Given the description of an element on the screen output the (x, y) to click on. 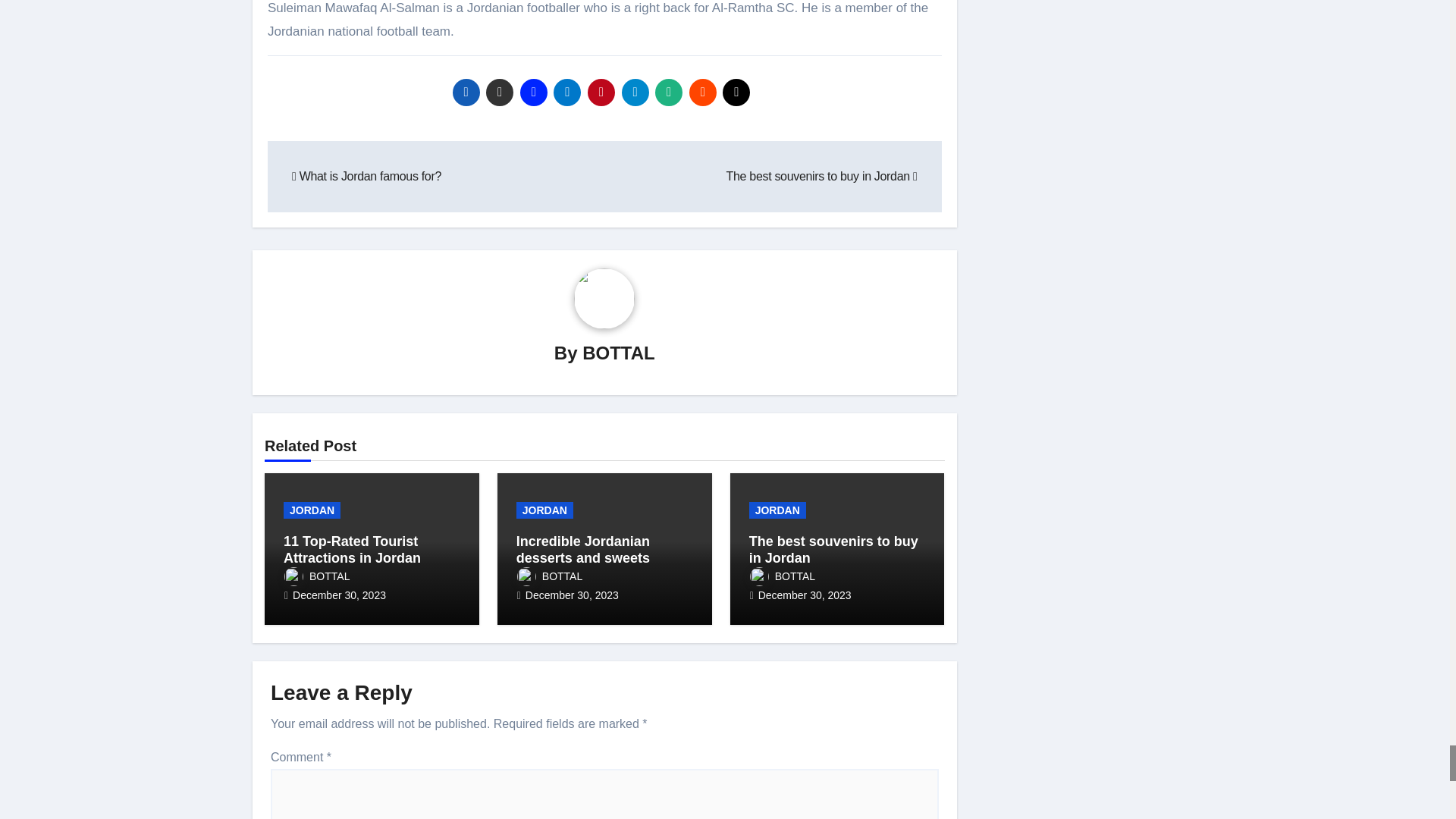
Permalink to: The best souvenirs to buy in Jordan (833, 549)
What is Jordan famous for? (366, 175)
Permalink to: Incredible Jordanian desserts and sweets (582, 549)
JORDAN (311, 510)
11 Top-Rated Tourist Attractions in Jordan (351, 549)
BOTTAL (618, 353)
The best souvenirs to buy in Jordan (821, 175)
Permalink to: 11 Top-Rated Tourist Attractions in Jordan (351, 549)
